Given the description of an element on the screen output the (x, y) to click on. 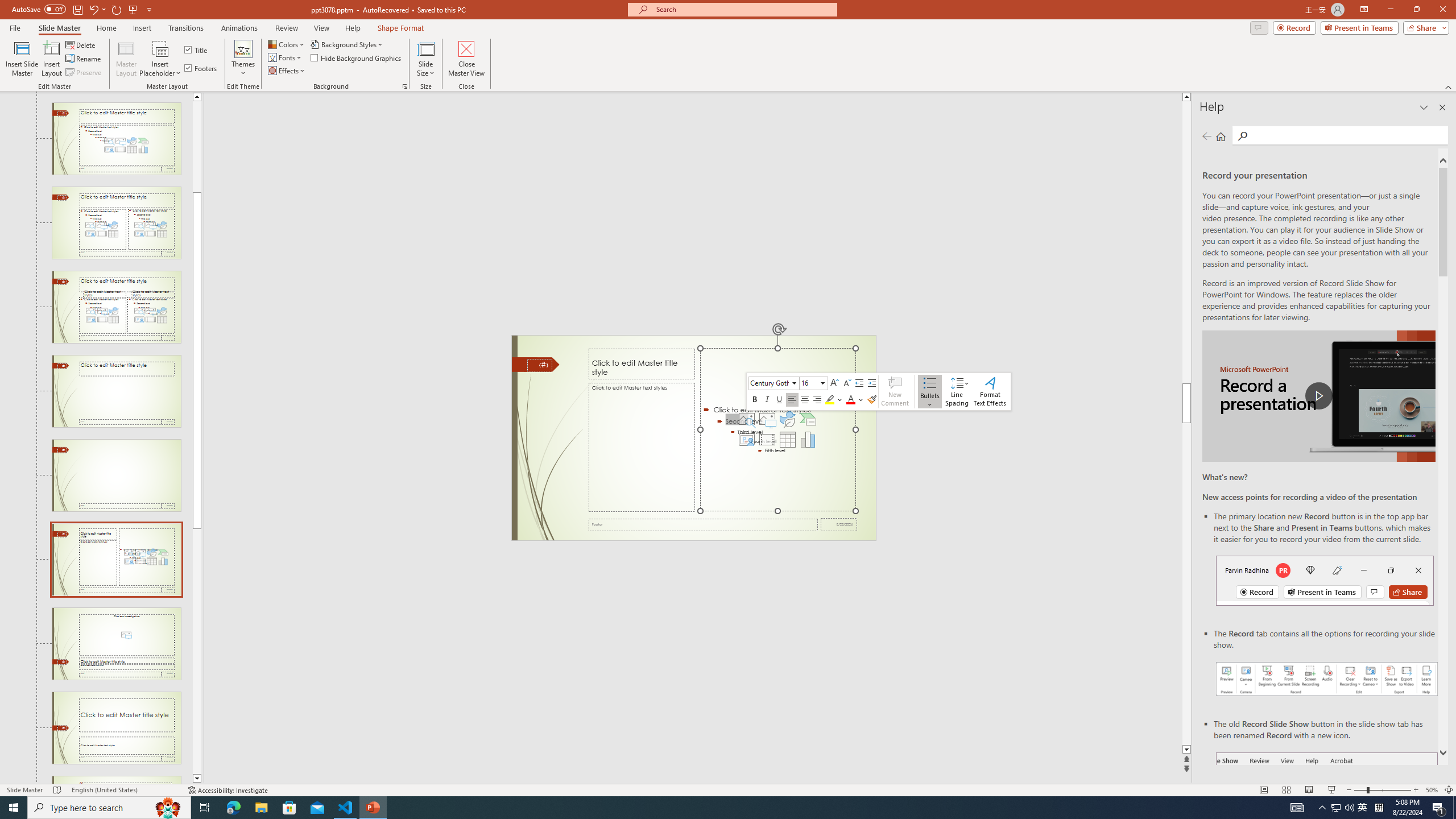
Insert Table (787, 439)
Slide Two Content Layout: used by no slides (116, 222)
play Record a Presentation (1318, 395)
Record button in top bar (1324, 580)
Class: NetUIAnchor (957, 391)
Fonts (285, 56)
